Given the description of an element on the screen output the (x, y) to click on. 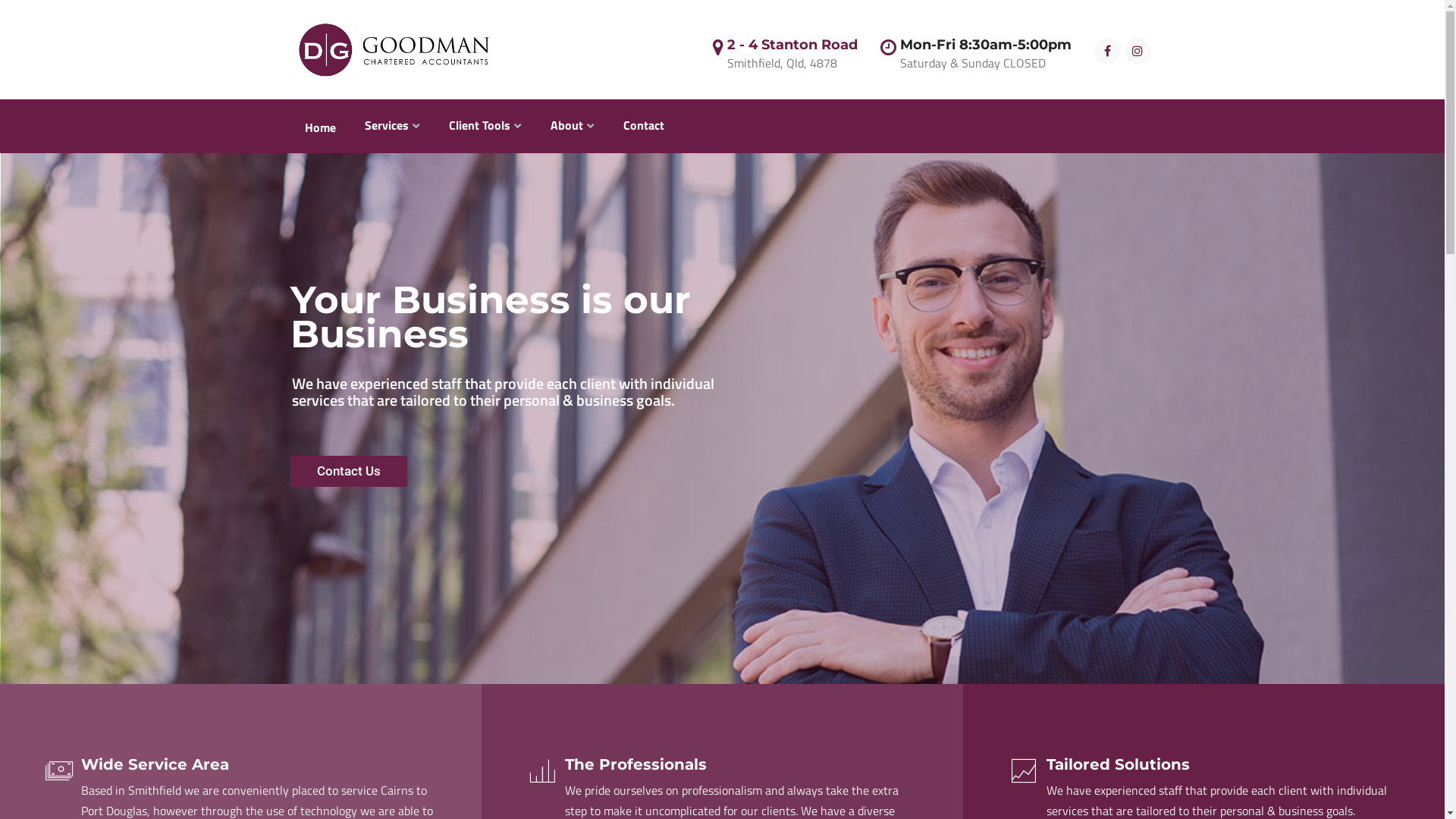
Contact Element type: text (643, 125)
2 - 4 Stanton Road Element type: text (791, 44)
Home Element type: text (320, 127)
Instagram Element type: hover (1137, 50)
Client Tools Element type: text (485, 125)
Facebook Element type: hover (1107, 50)
About Element type: text (572, 125)
Services Element type: text (391, 125)
Contact Us Element type: text (348, 470)
